Given the description of an element on the screen output the (x, y) to click on. 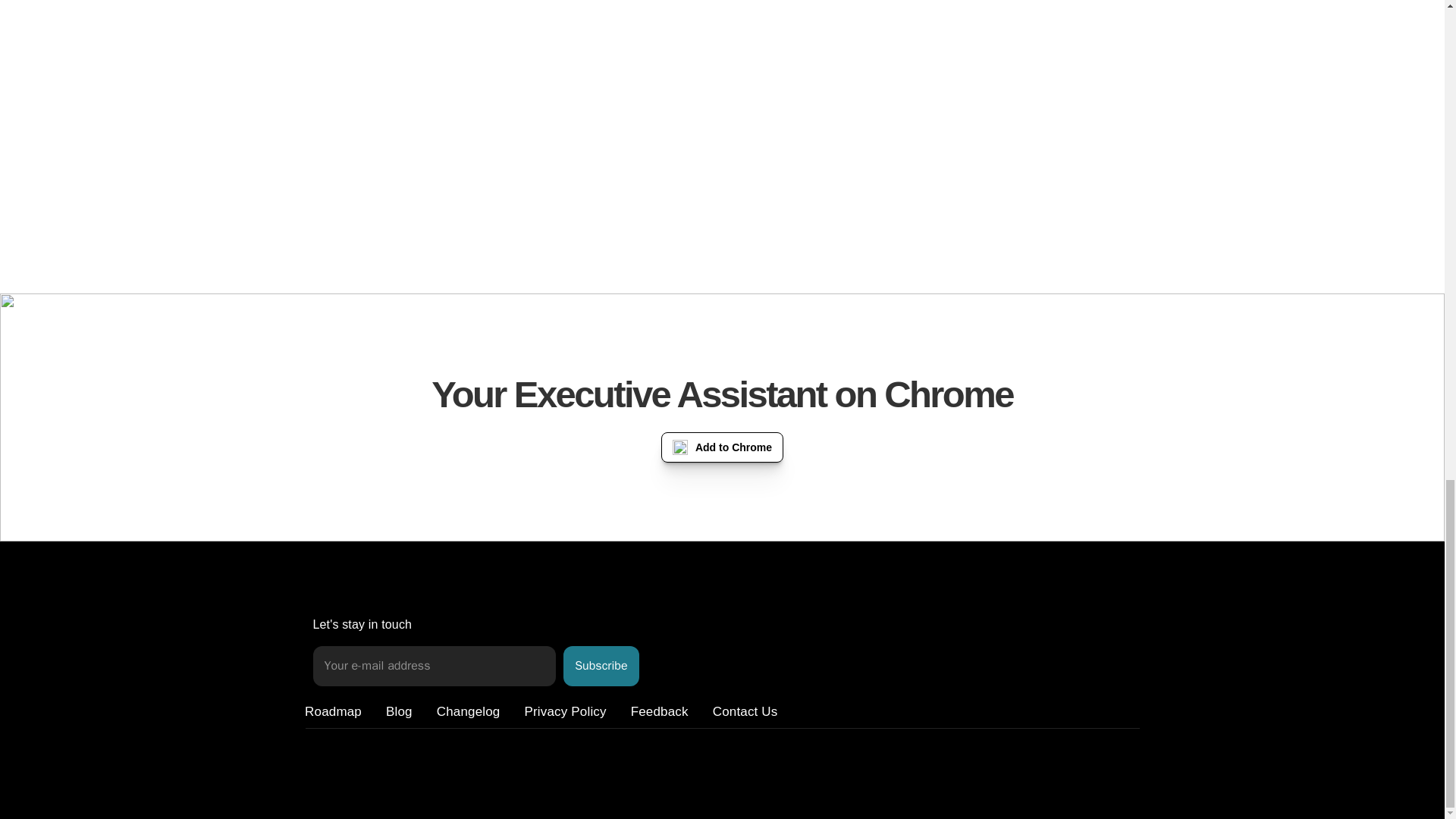
Privacy Policy (564, 711)
Feedback (659, 711)
Blog (398, 711)
Changelog (468, 711)
Roadmap (332, 711)
Subscribe (601, 665)
Contact Us (745, 711)
Add to Chrome (722, 447)
Subscribe (601, 665)
